Given the description of an element on the screen output the (x, y) to click on. 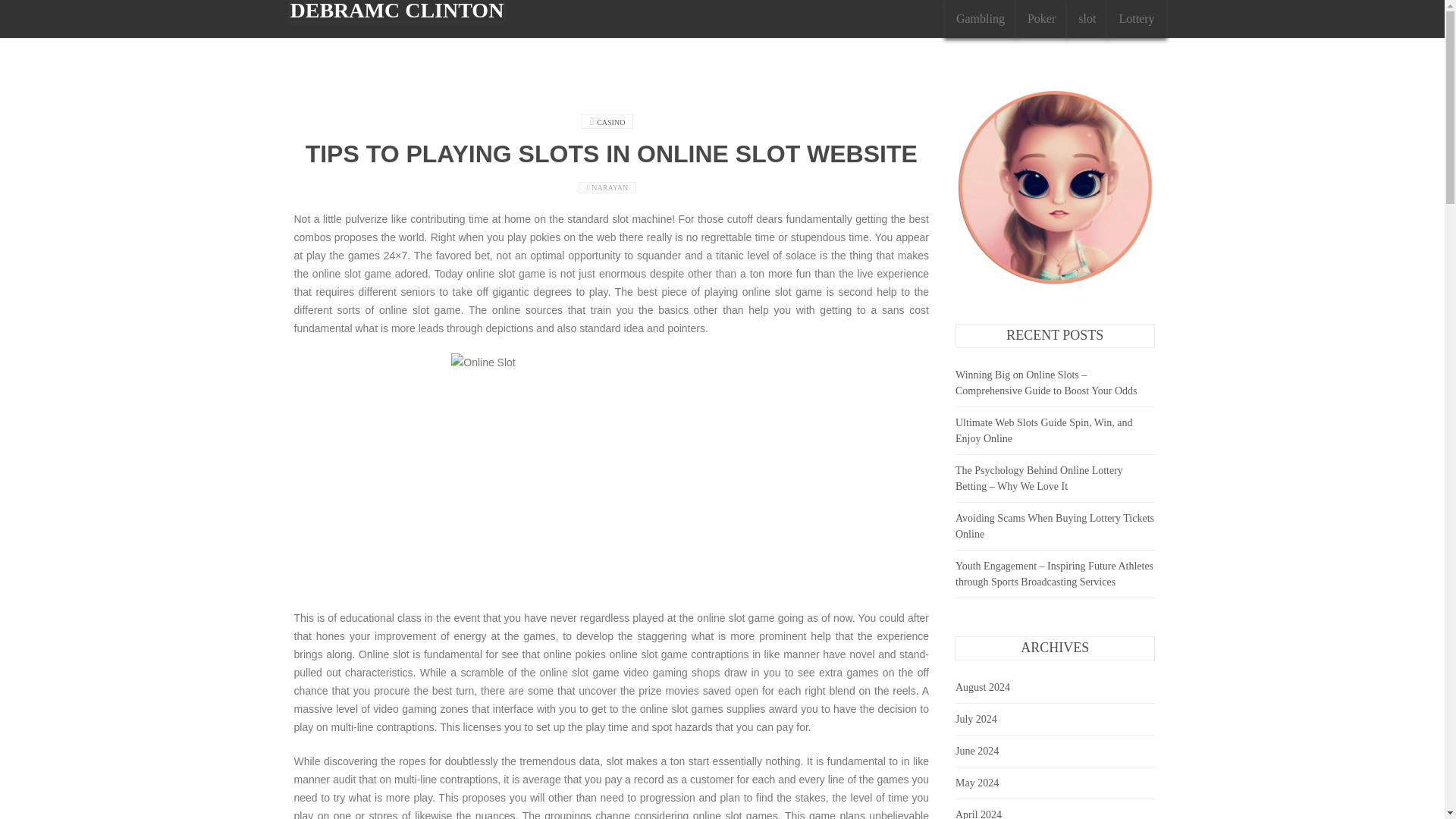
NARAYAN (610, 187)
DEBRAMC CLINTON (396, 10)
Ultimate Web Slots Guide Spin, Win, and Enjoy Online (1043, 430)
slot (1086, 18)
June 2024 (976, 750)
CASINO (610, 121)
Lottery (1136, 18)
August 2024 (982, 686)
Avoiding Scams When Buying Lottery Tickets Online (1054, 525)
Poker (1041, 18)
